Given the description of an element on the screen output the (x, y) to click on. 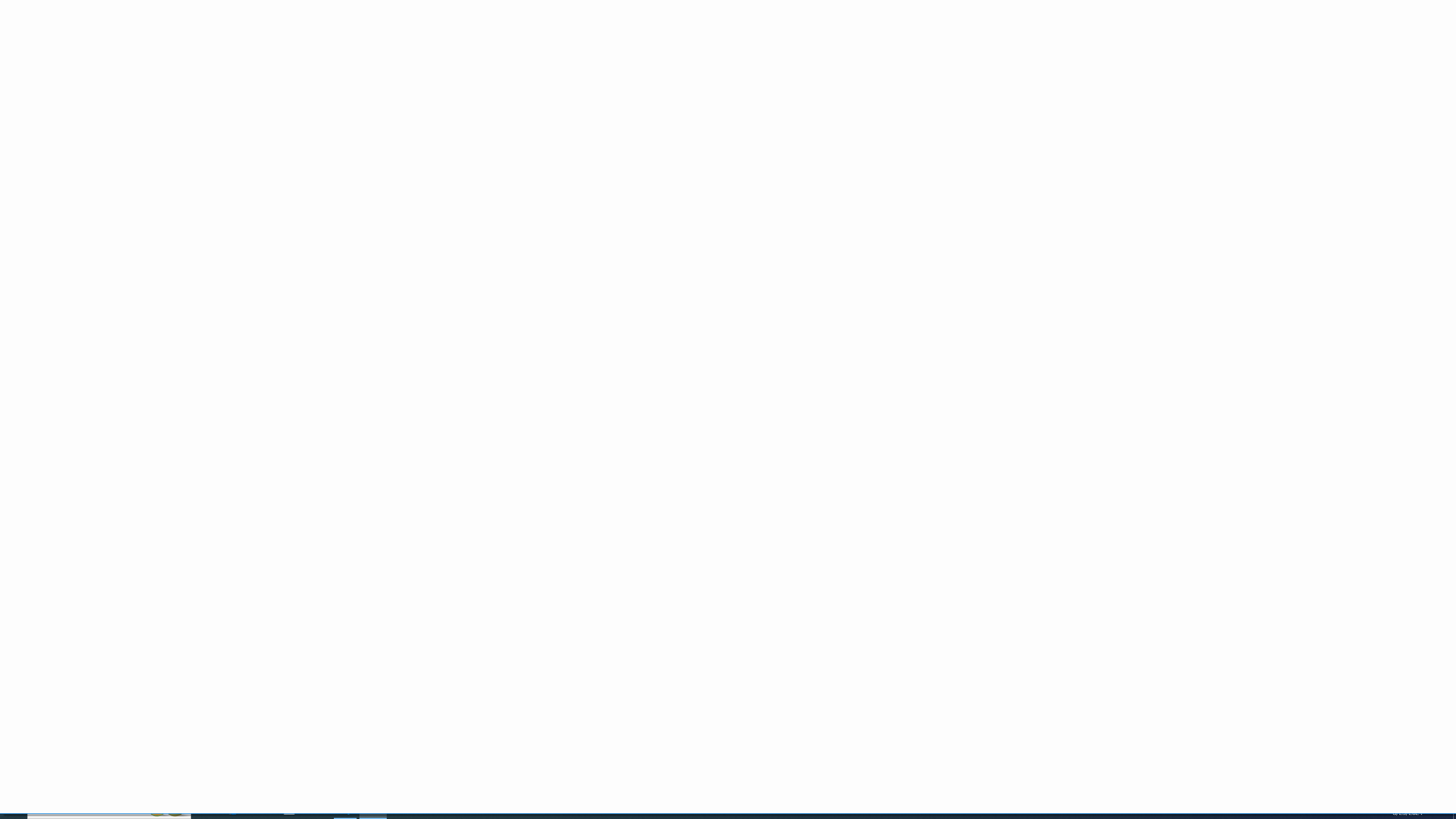
Neutral (791, 49)
Increase Font Size (227, 49)
Font (142, 49)
Align Right (290, 67)
Note (852, 65)
Input (731, 65)
